Given the description of an element on the screen output the (x, y) to click on. 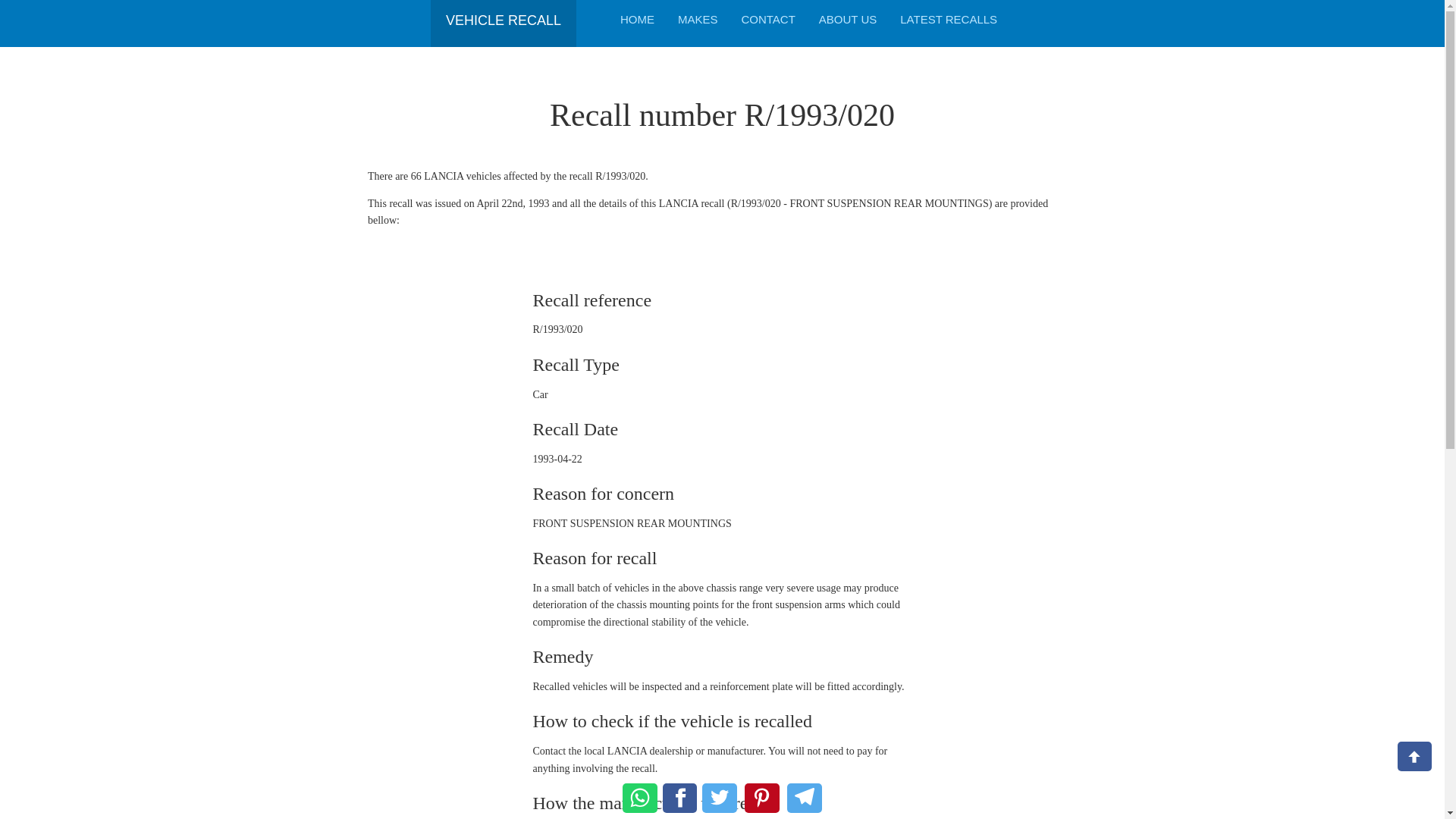
Share on Telegram (804, 797)
MAKES (697, 19)
Share on Whatsapp (640, 797)
HOME (636, 19)
Share on Twitter (718, 797)
Share on Pinterest (761, 797)
ABOUT US (848, 19)
CONTACT (767, 19)
Share on Facebook (679, 797)
LATEST RECALLS (948, 19)
VEHICLE RECALL (502, 15)
